Given the description of an element on the screen output the (x, y) to click on. 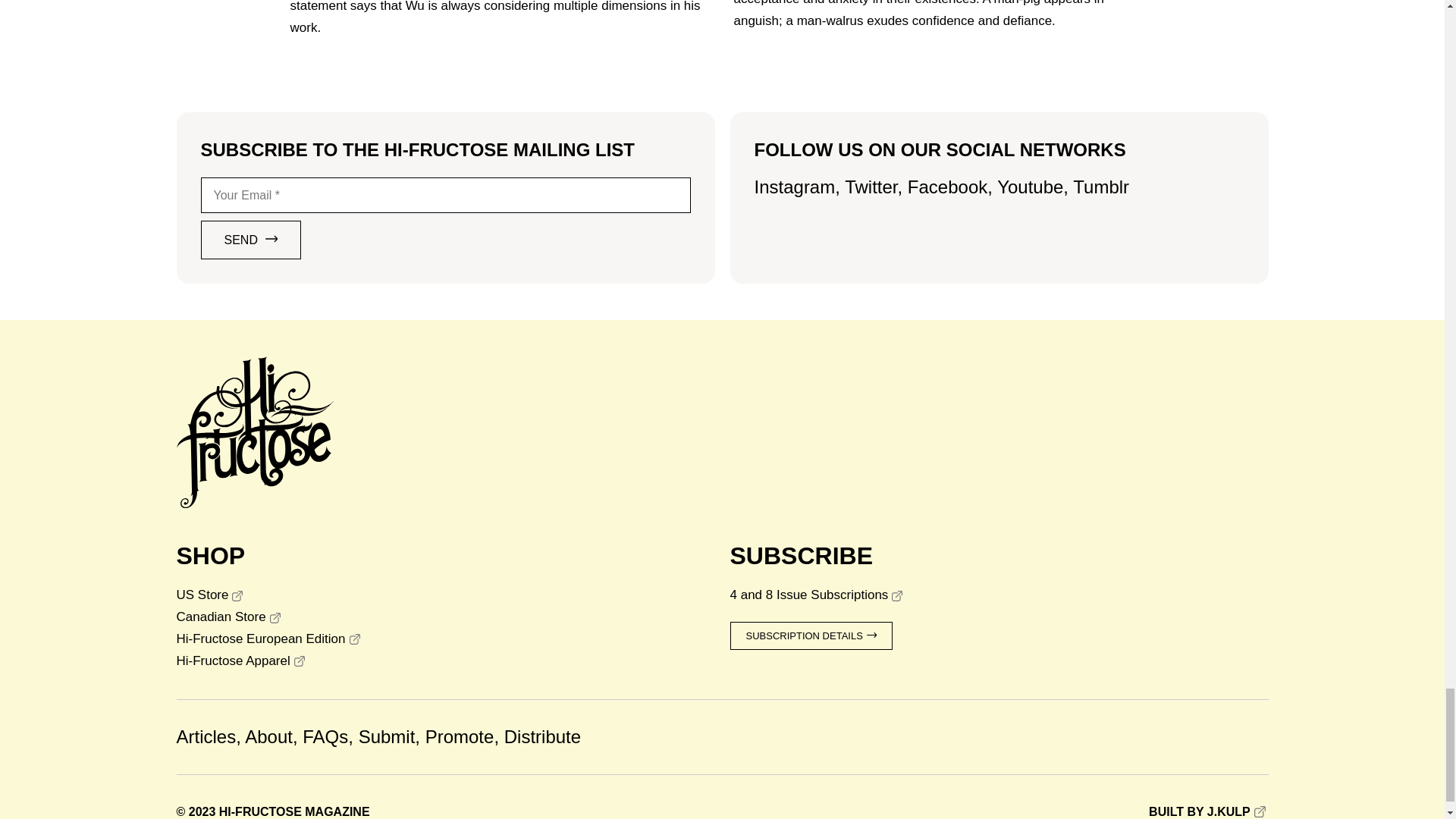
SEND (249, 239)
Instagram (794, 186)
Twitter (870, 186)
